Given the description of an element on the screen output the (x, y) to click on. 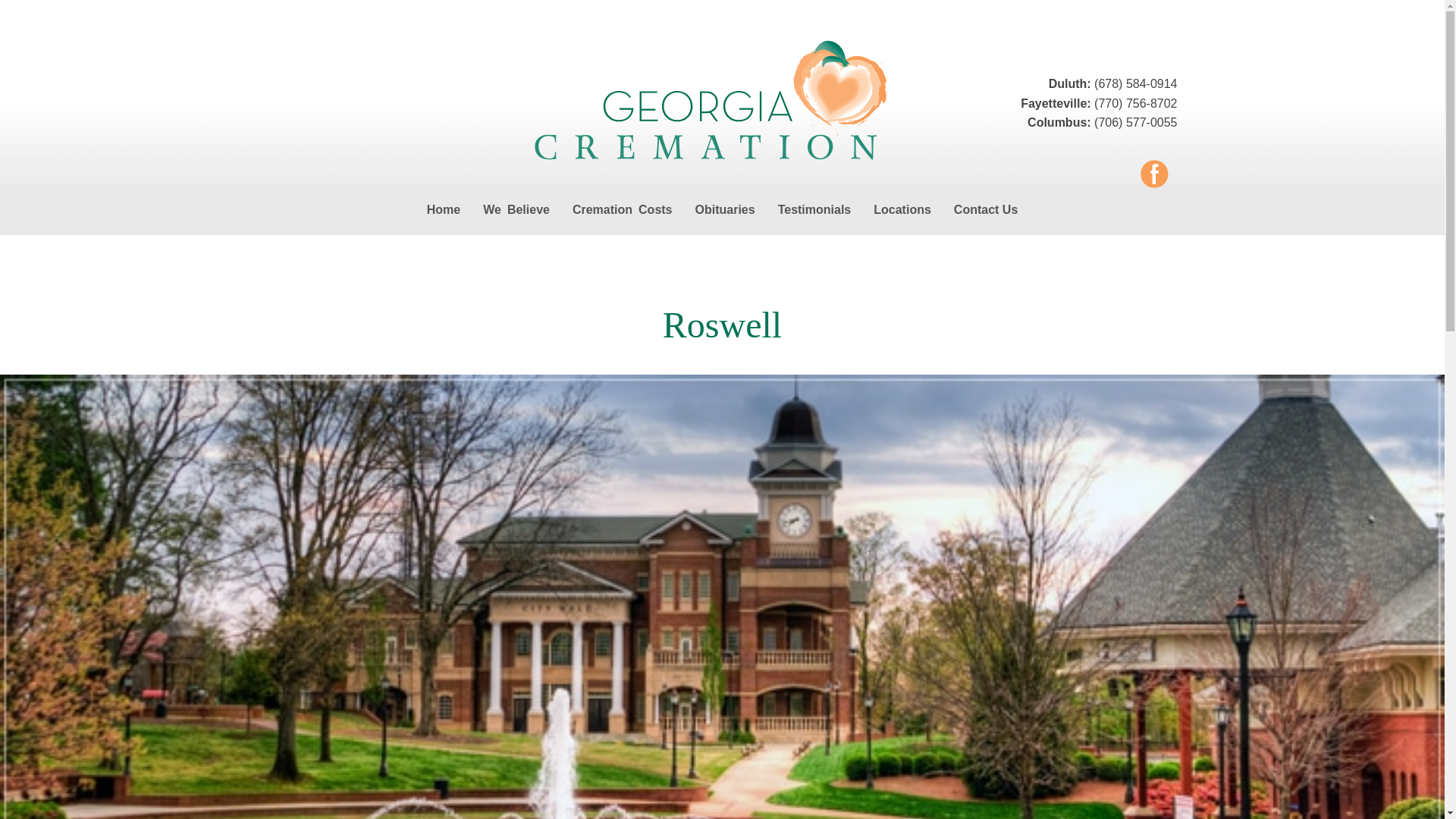
Contact Us (985, 210)
Locations (902, 210)
Obituaries (724, 210)
Home (443, 210)
Testimonials (814, 210)
Georgia Cremation (721, 101)
